Given the description of an element on the screen output the (x, y) to click on. 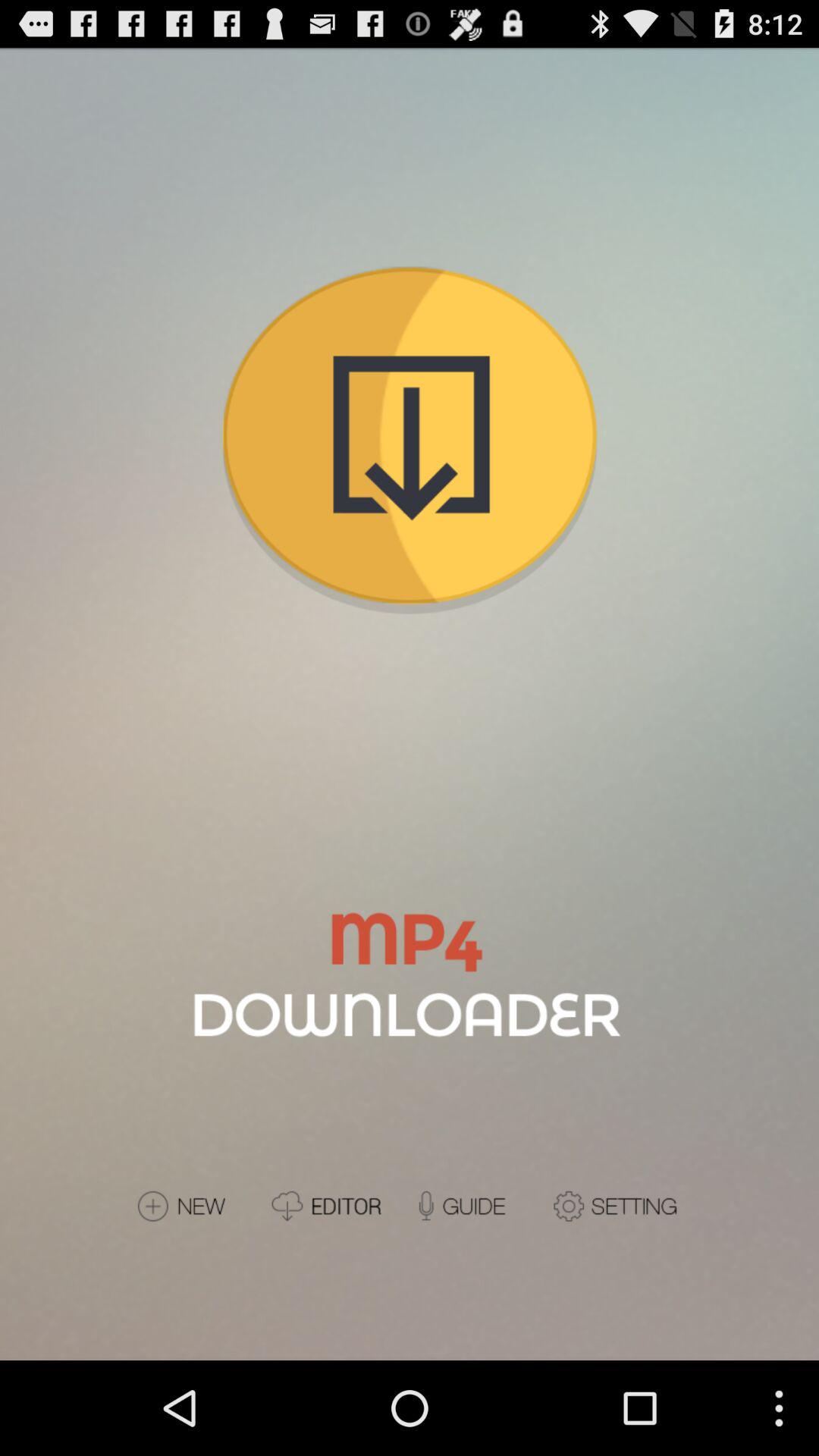
open settings (617, 1206)
